Given the description of an element on the screen output the (x, y) to click on. 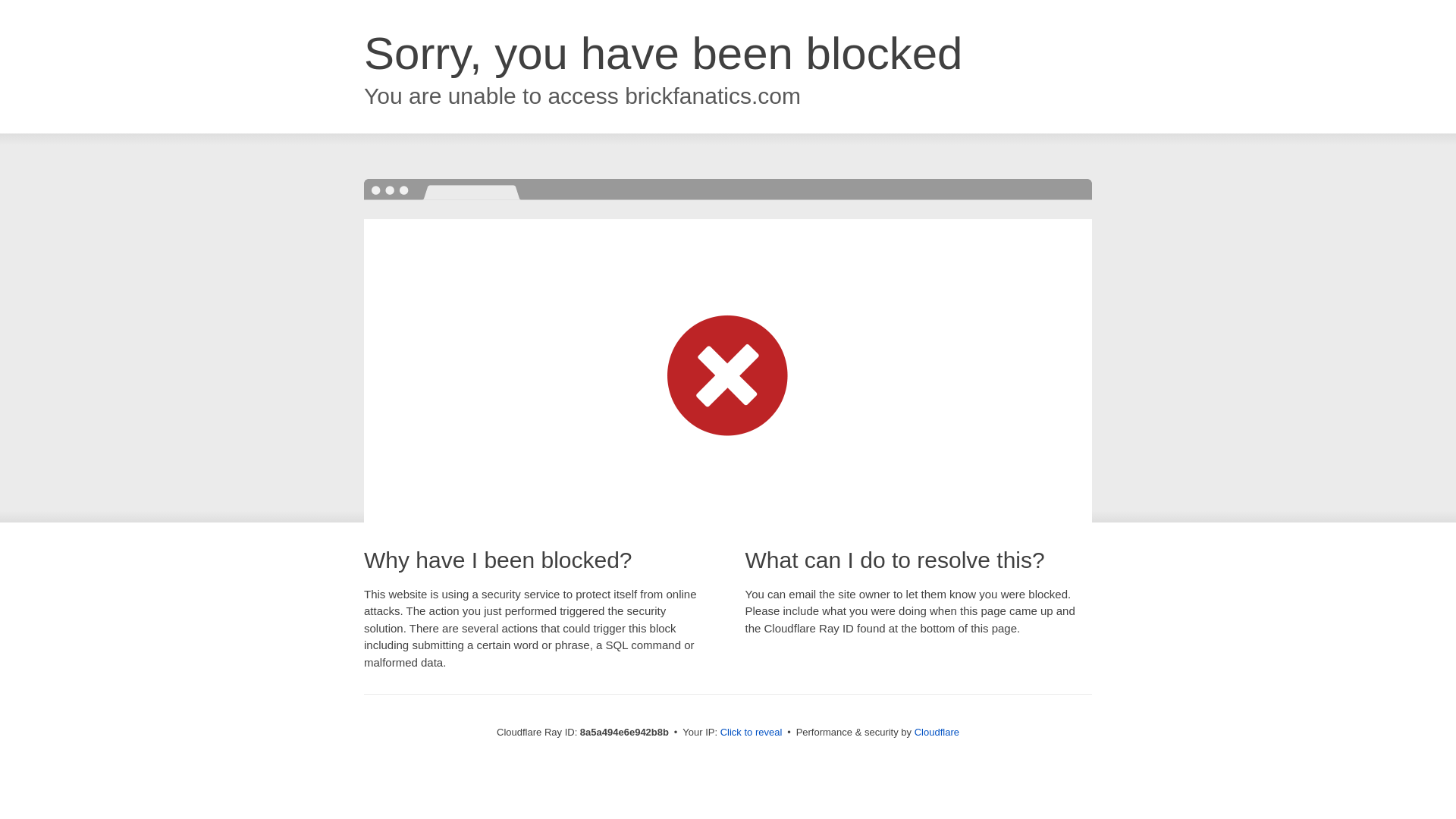
Cloudflare (936, 731)
Click to reveal (751, 732)
